Given the description of an element on the screen output the (x, y) to click on. 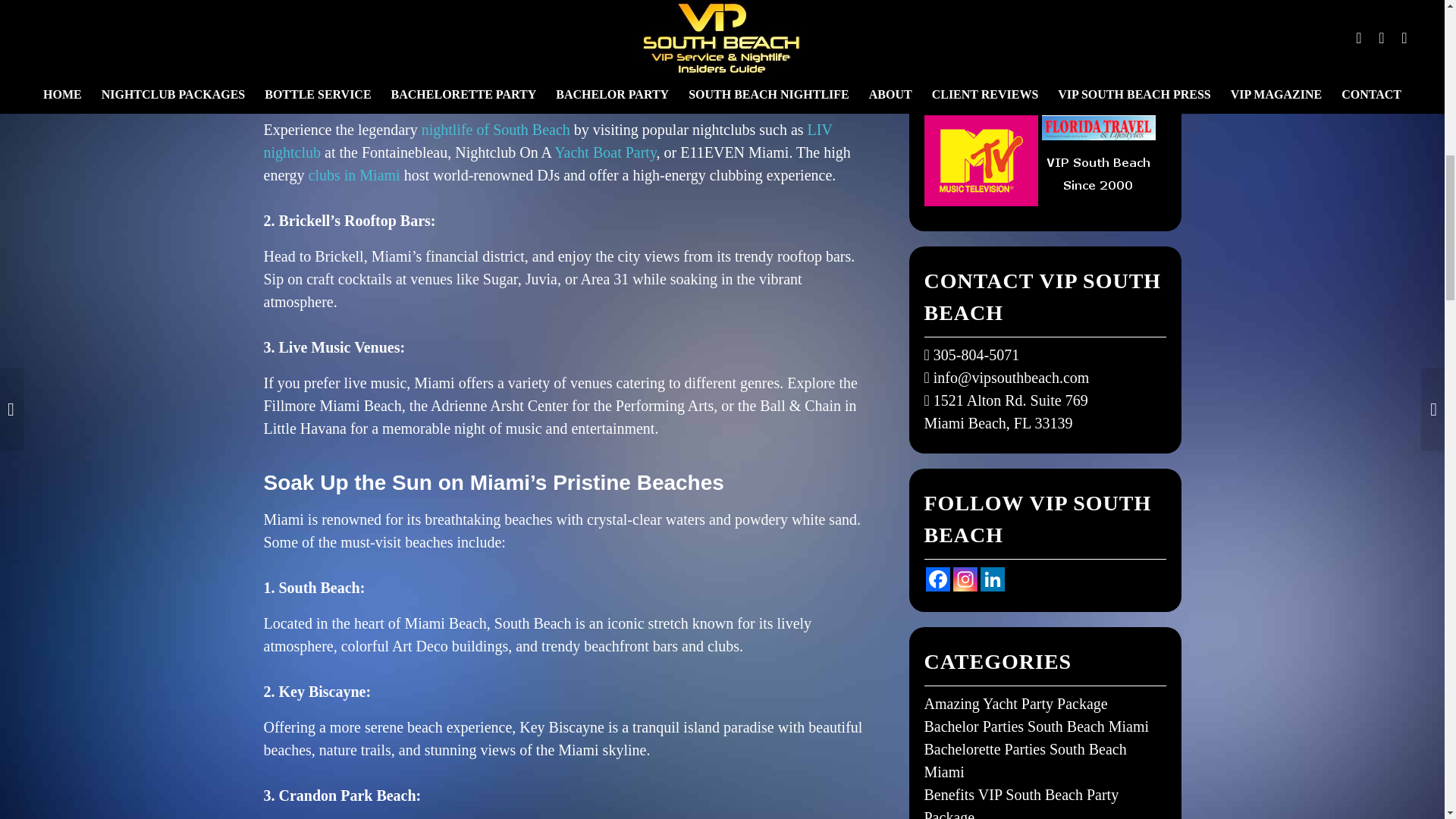
LIV nightclub (547, 140)
nightlife of South Beach (496, 129)
Yacht Boat Party (605, 152)
clubs in Miami (354, 175)
